Given the description of an element on the screen output the (x, y) to click on. 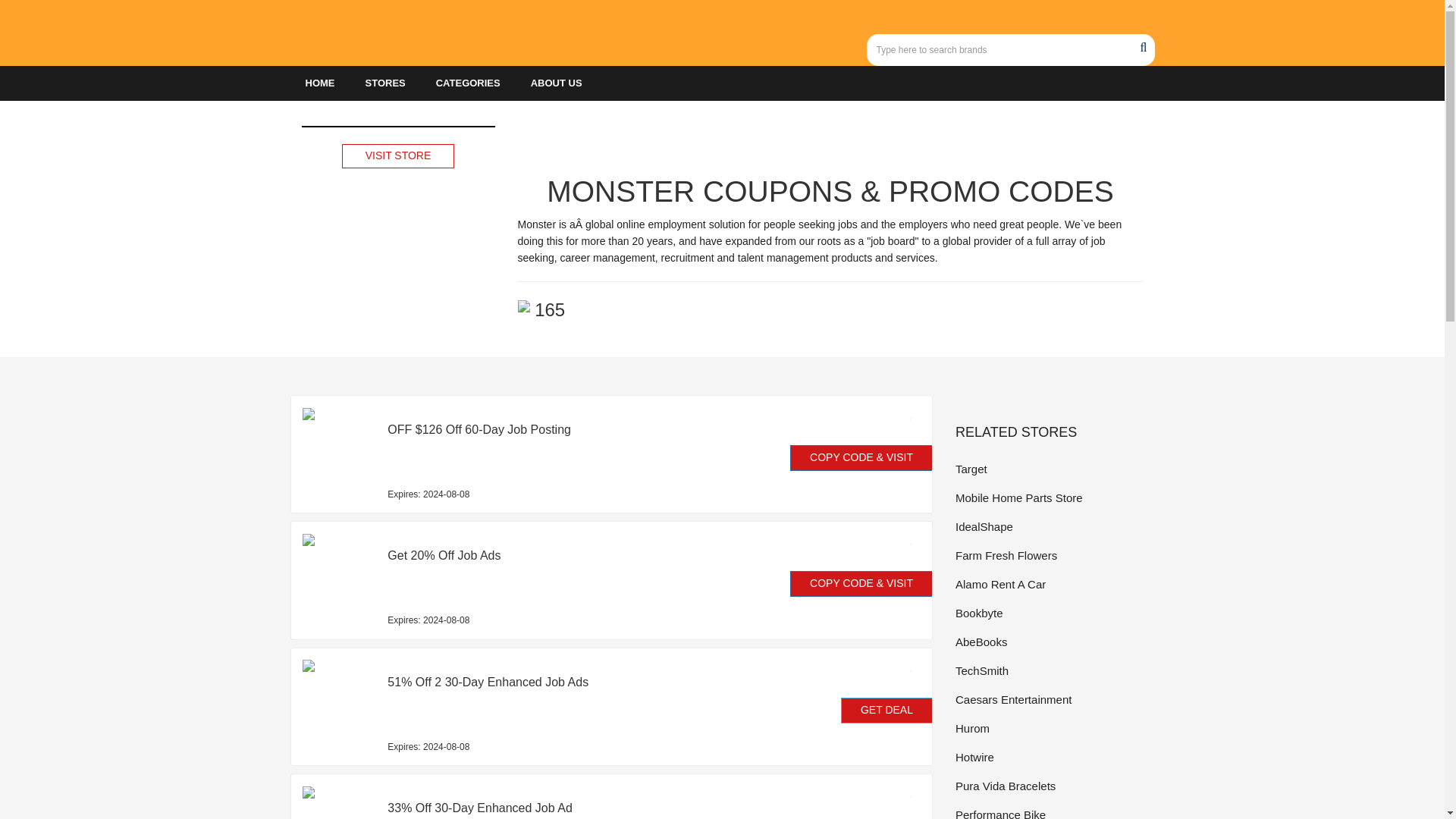
Mobile Home Parts Store (1054, 497)
Farm Fresh Flowers (1054, 555)
HOME (319, 83)
Hotwire (1054, 756)
IdealShape (1054, 526)
GET DEAL (887, 710)
Hurom (1054, 728)
AbeBooks (1054, 641)
Bookbyte (1054, 612)
TechSmith (1054, 670)
Performance Bike (1054, 812)
ABOUT US (555, 83)
Pura Vida Bracelets (1054, 785)
CATEGORIES (467, 83)
STORES (385, 83)
